Given the description of an element on the screen output the (x, y) to click on. 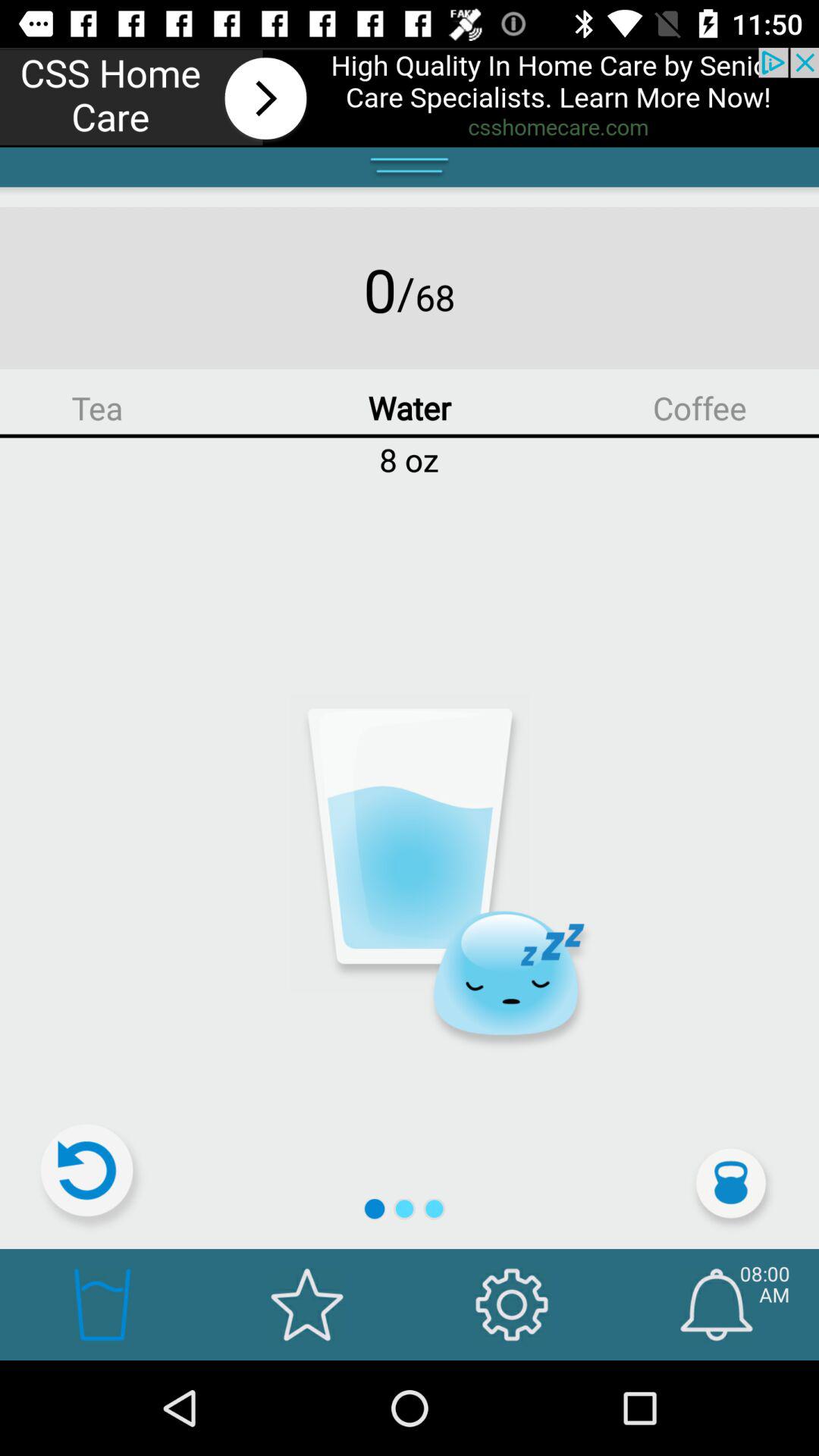
banner (409, 97)
